Given the description of an element on the screen output the (x, y) to click on. 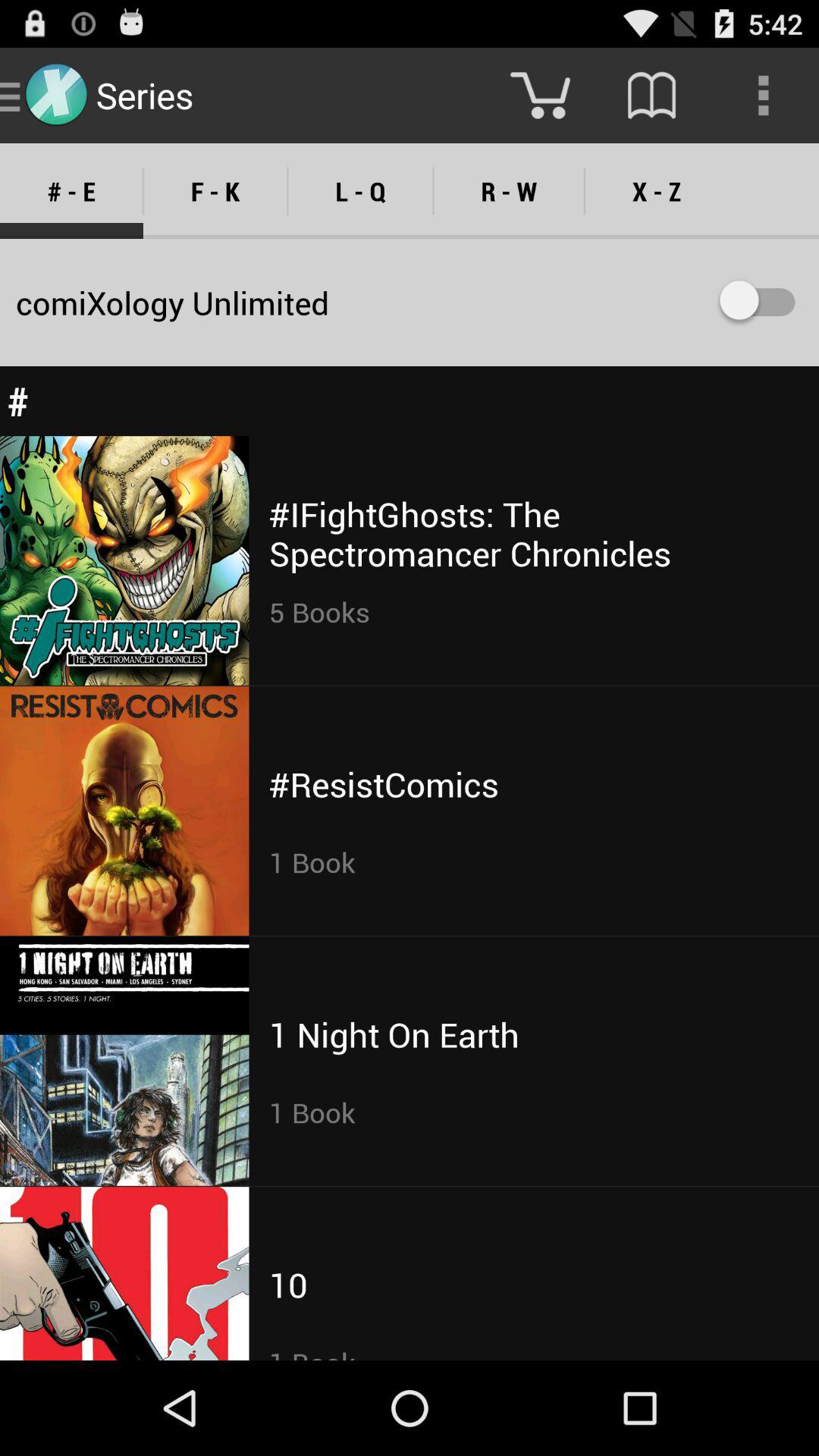
select icon next to the r - w item (360, 190)
